Given the description of an element on the screen output the (x, y) to click on. 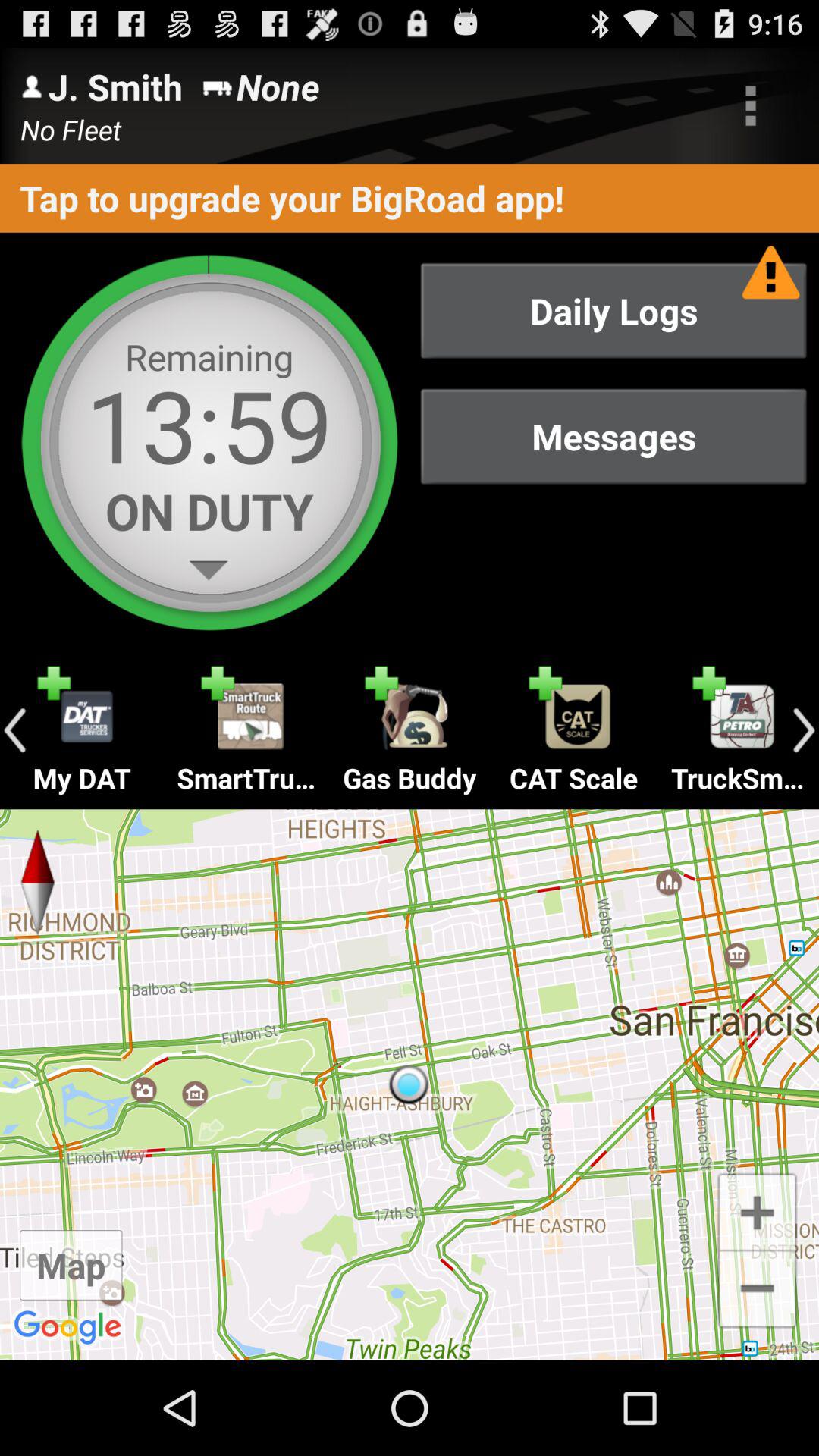
press the tap to upgrade at the top (409, 197)
